Given the description of an element on the screen output the (x, y) to click on. 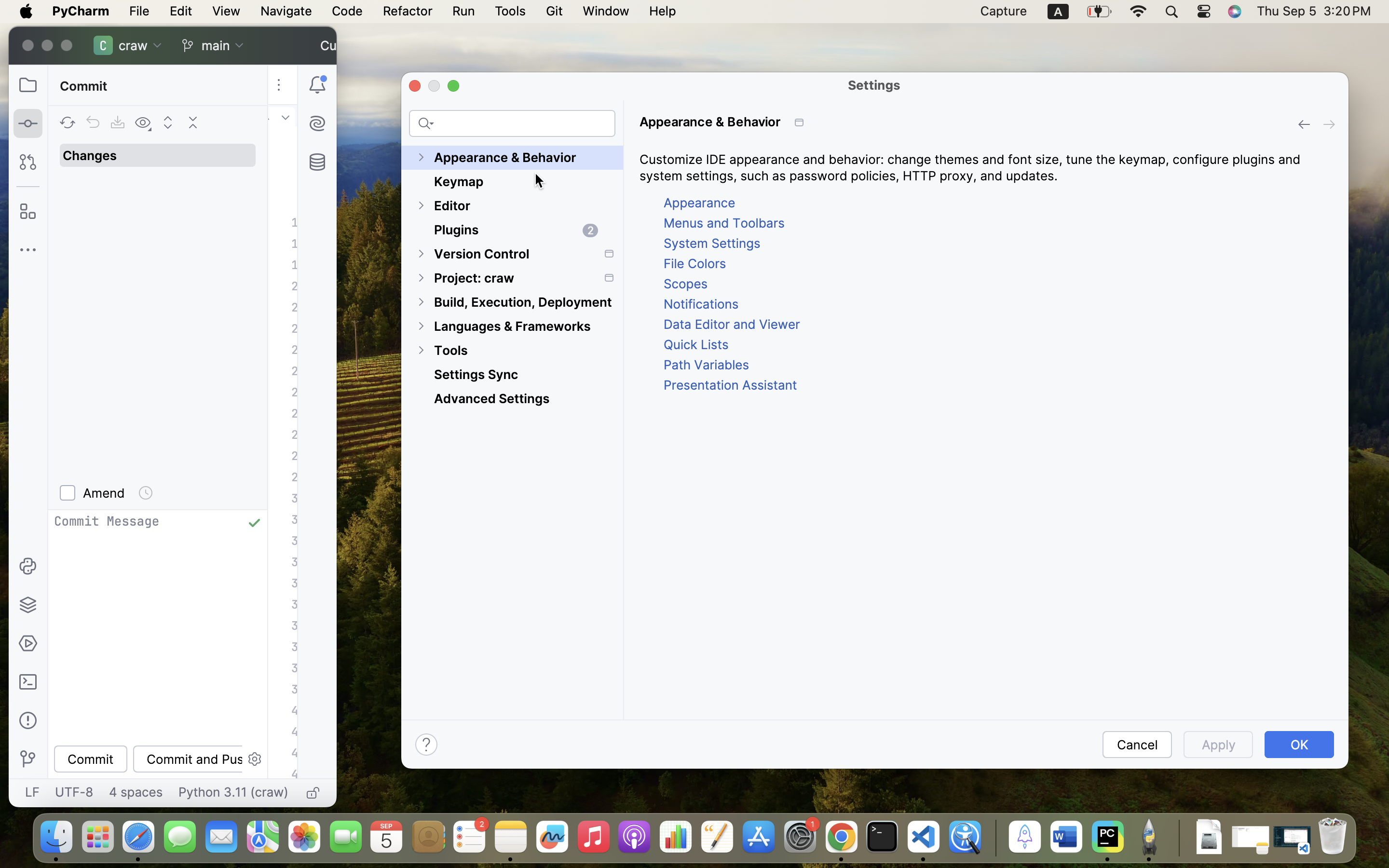
0.4285714328289032 Element type: AXDockItem (993, 837)
0 Element type: AXOutline (512, 432)
Settings Element type: AXStaticText (873, 84)
